Given the description of an element on the screen output the (x, y) to click on. 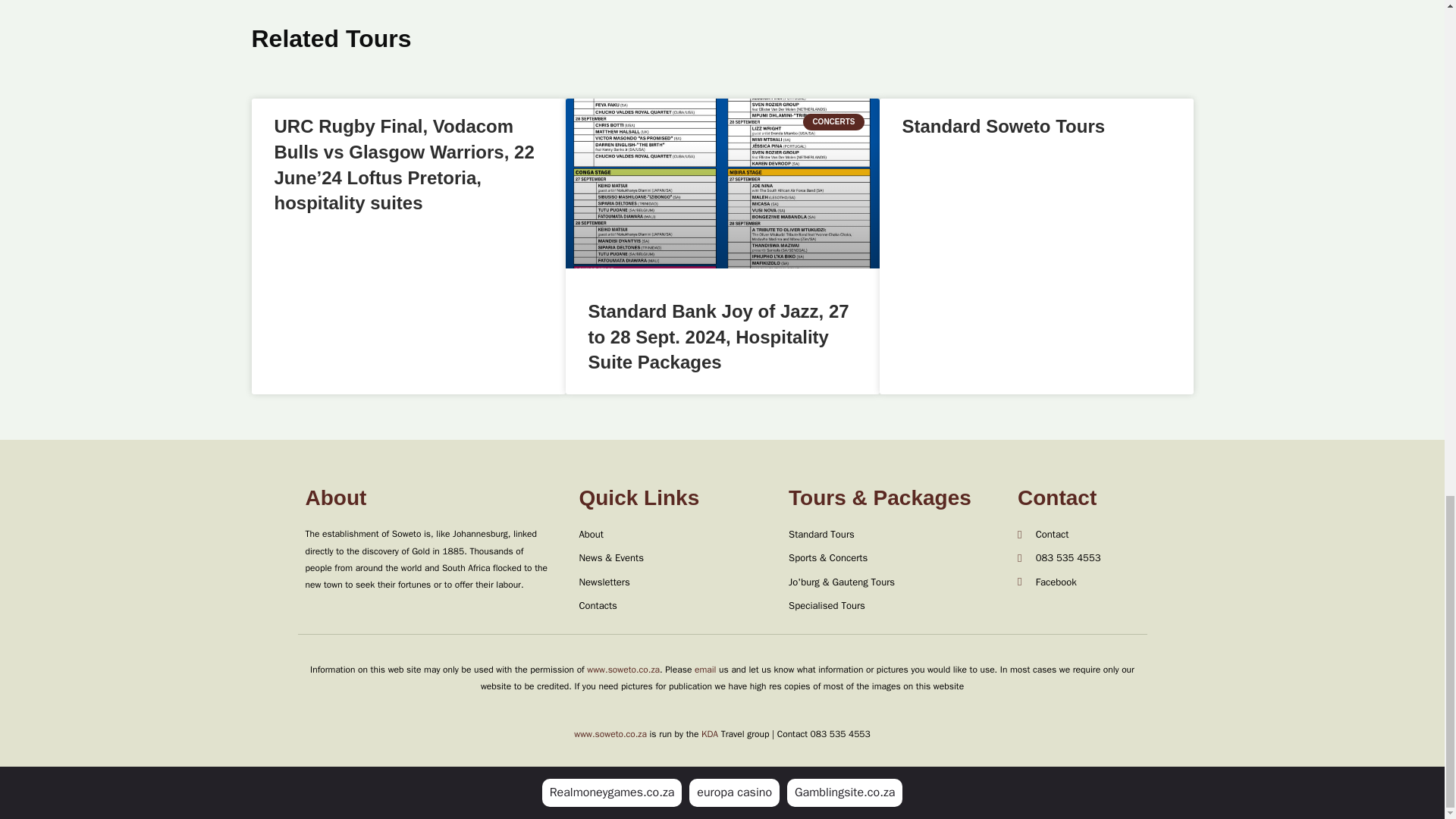
Standard Tours (896, 534)
About (675, 534)
Contacts (675, 606)
Standard Soweto Tours (1003, 126)
Newsletters (675, 582)
